Given the description of an element on the screen output the (x, y) to click on. 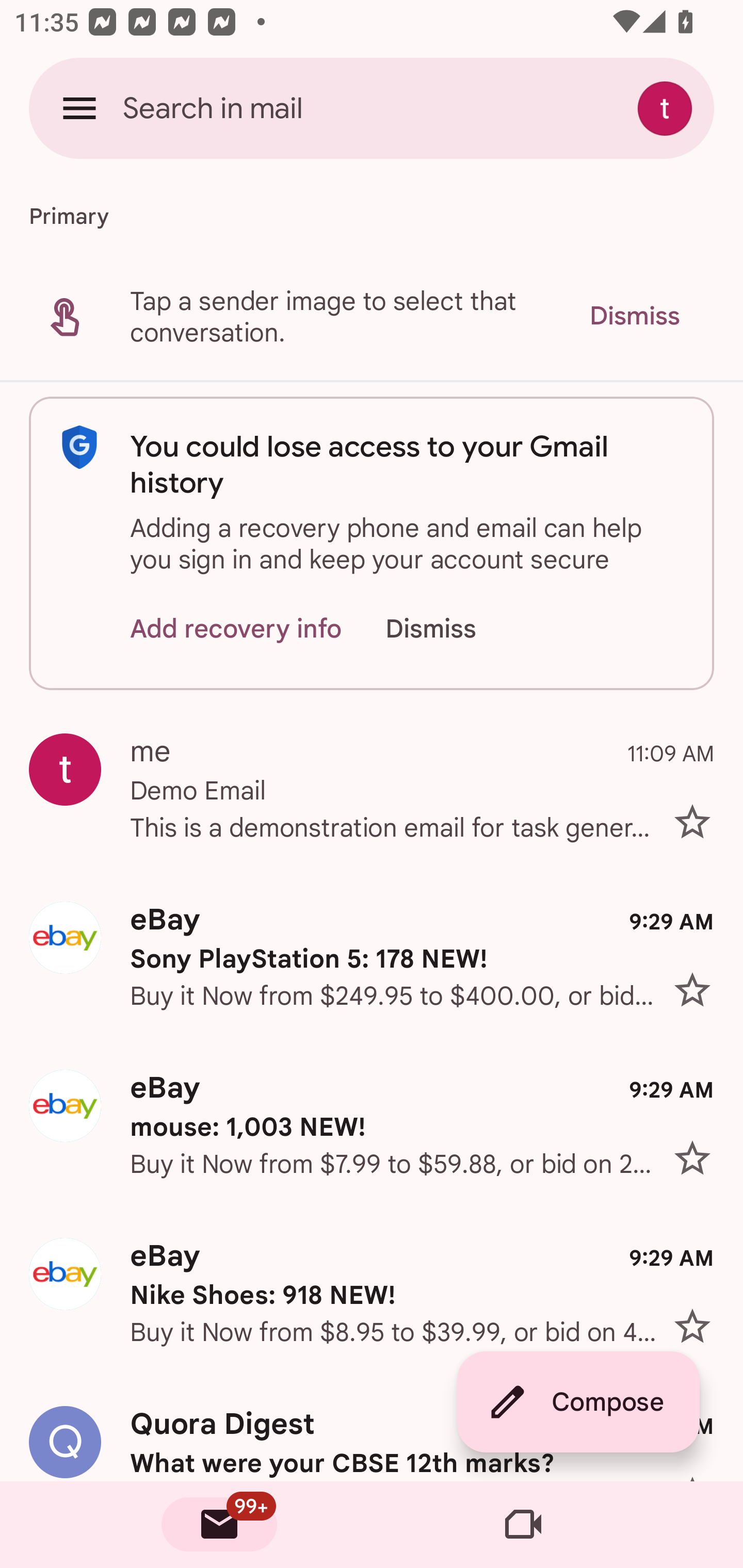
Open navigation drawer (79, 108)
Dismiss Dismiss tip (634, 315)
Add recovery info (235, 628)
Dismiss (449, 628)
Compose (577, 1401)
Meet (523, 1524)
